Given the description of an element on the screen output the (x, y) to click on. 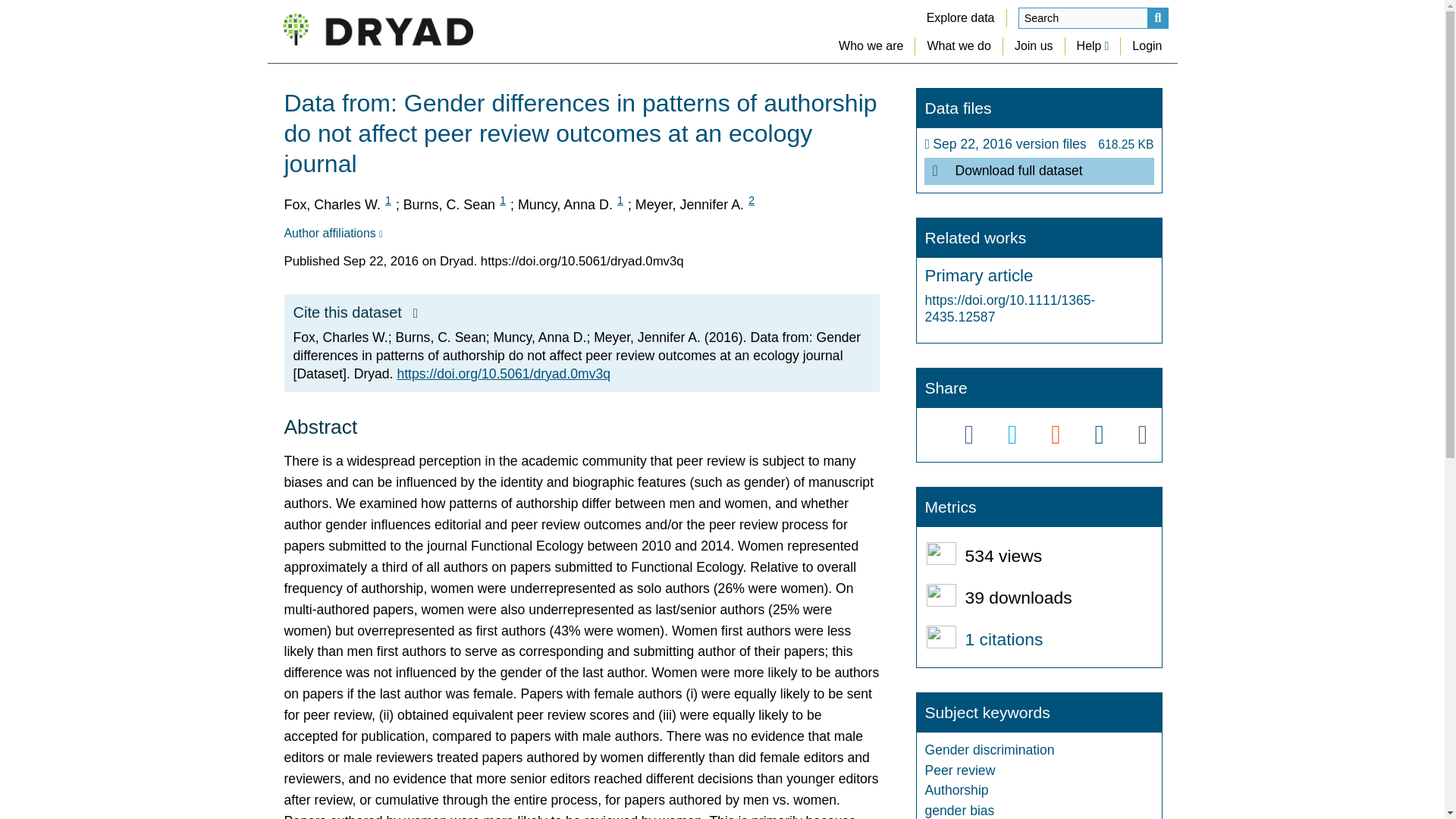
Who we are (870, 45)
Author affiliations (332, 233)
